Given the description of an element on the screen output the (x, y) to click on. 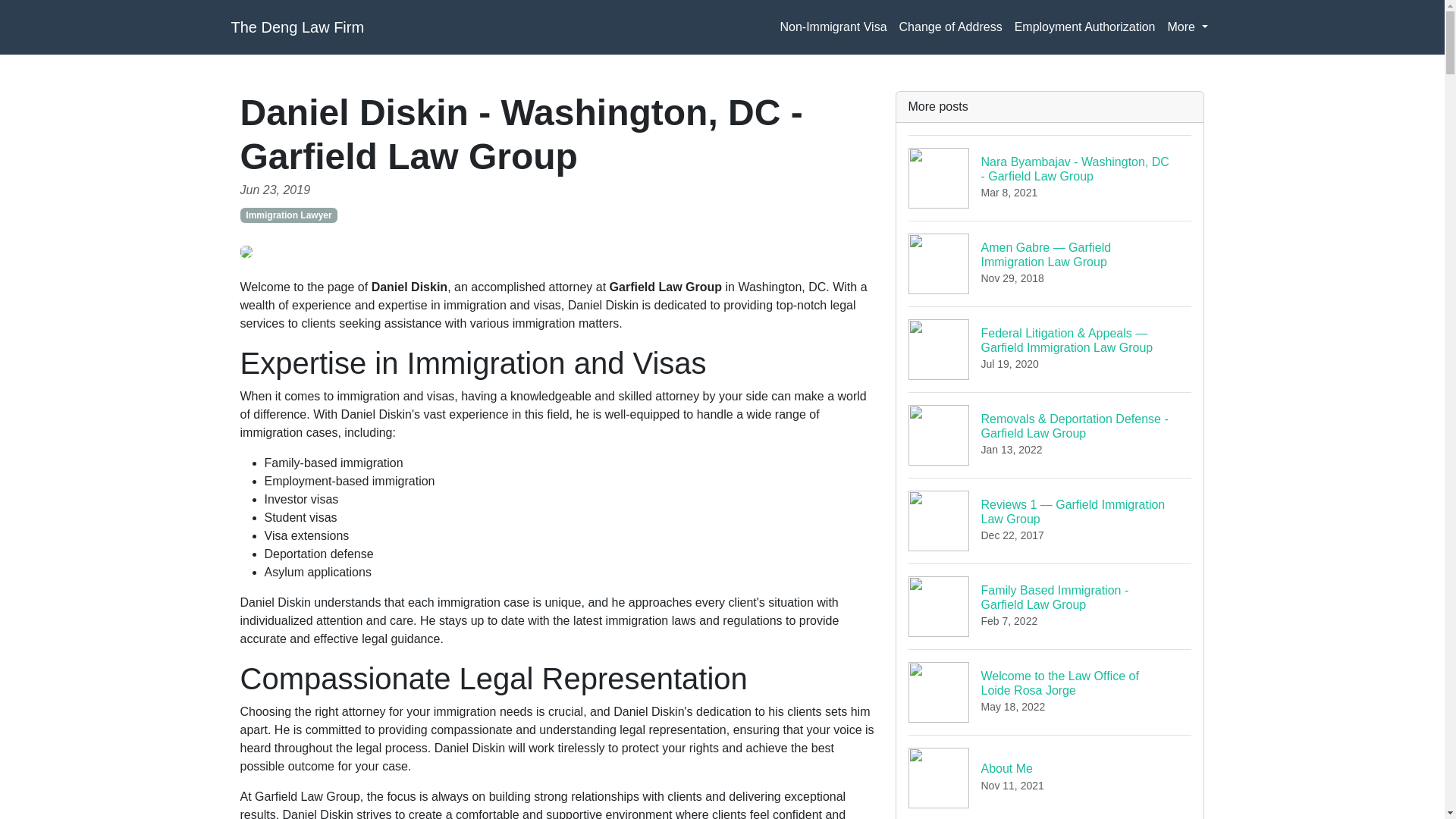
Immigration Lawyer (288, 215)
Change of Address (951, 27)
More (1050, 691)
The Deng Law Firm (1050, 606)
Non-Immigrant Visa (1187, 27)
Employment Authorization (297, 27)
